Given the description of an element on the screen output the (x, y) to click on. 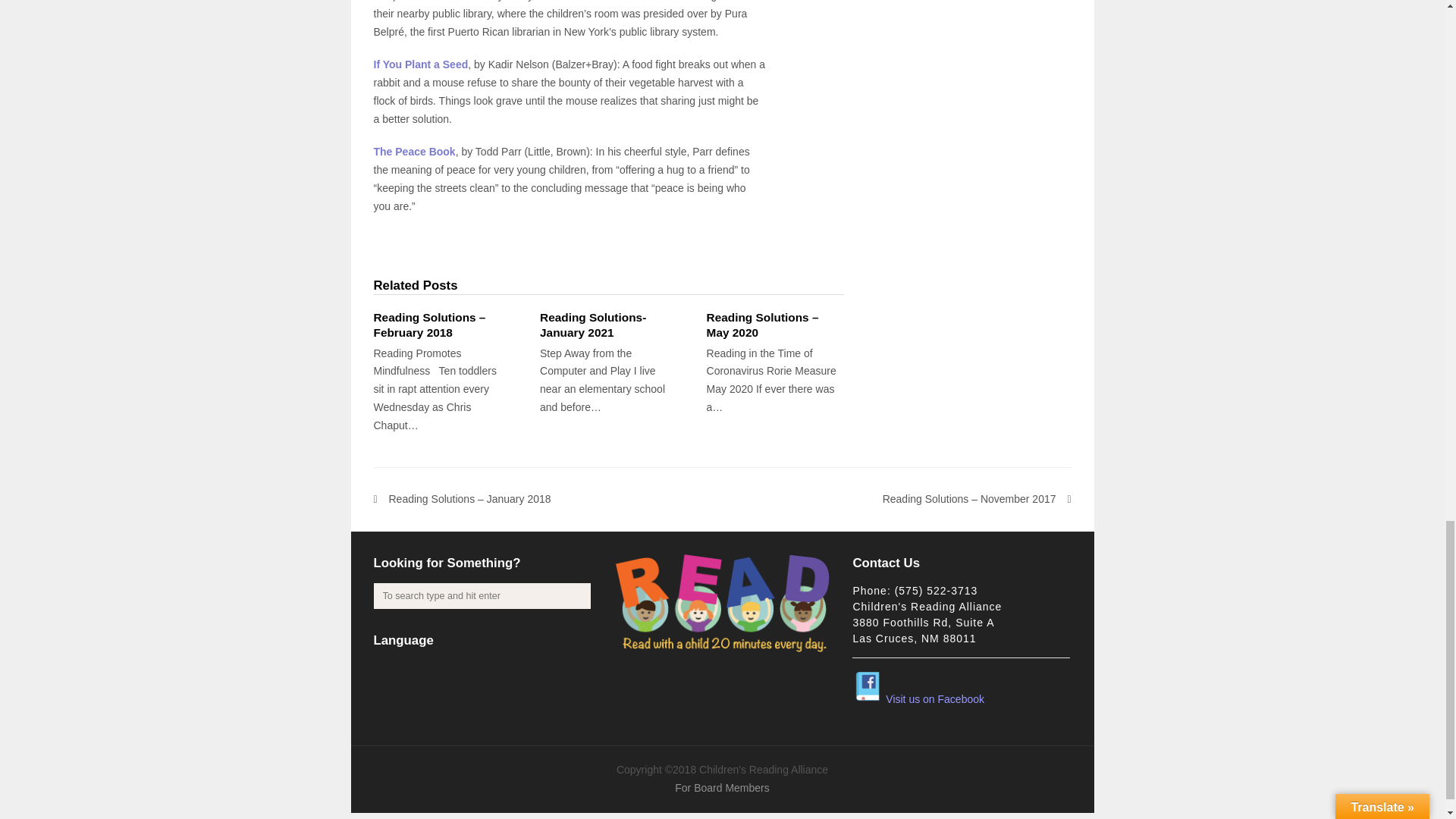
If You Plant a Seed (419, 64)
Visit us on Facebook (917, 698)
For Board Members (721, 787)
Reading Solutions- January 2021 (608, 325)
The Peace Book (413, 151)
Reading Solutions- January 2021 (608, 325)
